Given the description of an element on the screen output the (x, y) to click on. 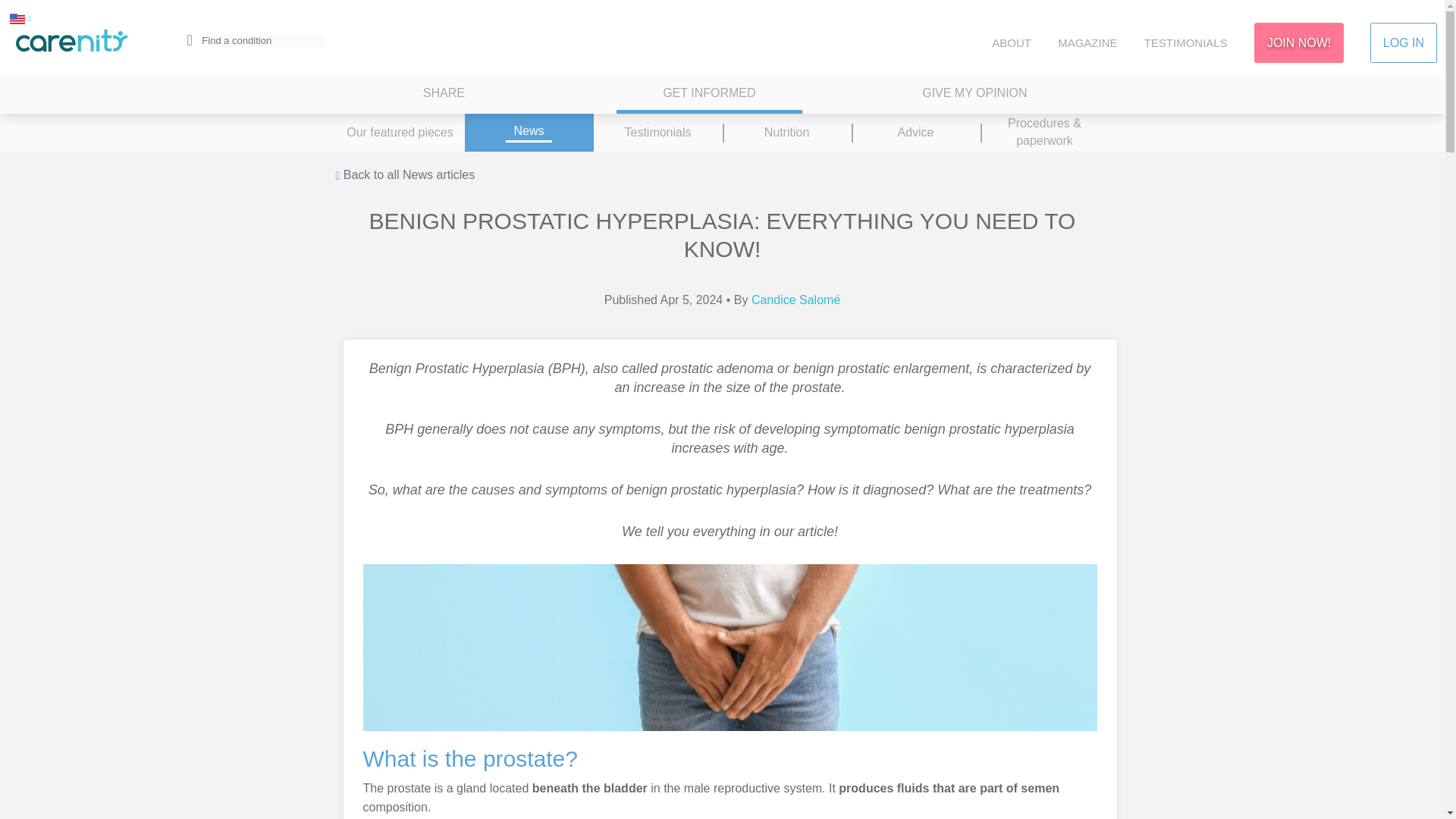
Our featured pieces (399, 132)
Back to all News articles (404, 175)
GET INFORMED (708, 94)
USA (17, 18)
ABOUT (1010, 42)
Nutrition (786, 132)
Advice (914, 132)
MAGAZINE (1087, 42)
News (528, 132)
JOIN NOW! (1298, 42)
